Given the description of an element on the screen output the (x, y) to click on. 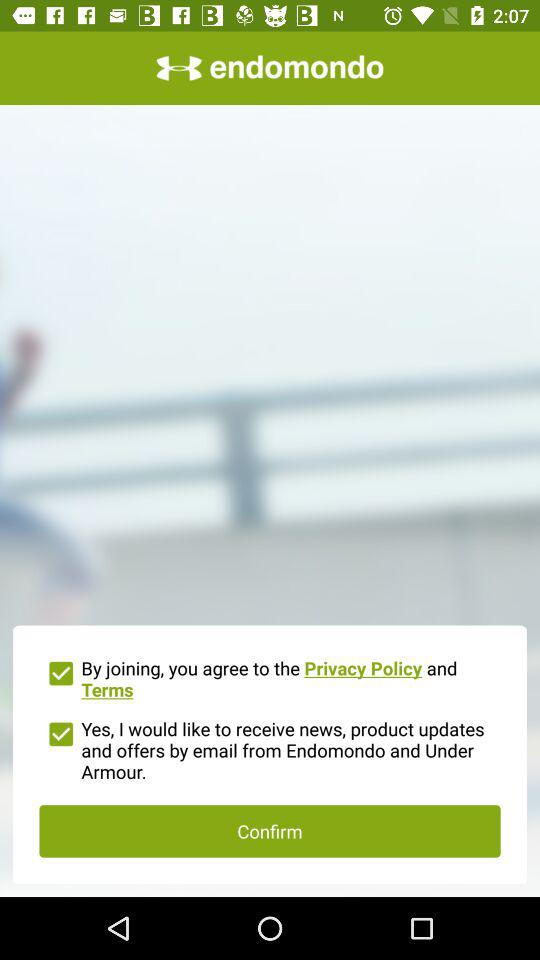
jump to yes i would icon (269, 748)
